Given the description of an element on the screen output the (x, y) to click on. 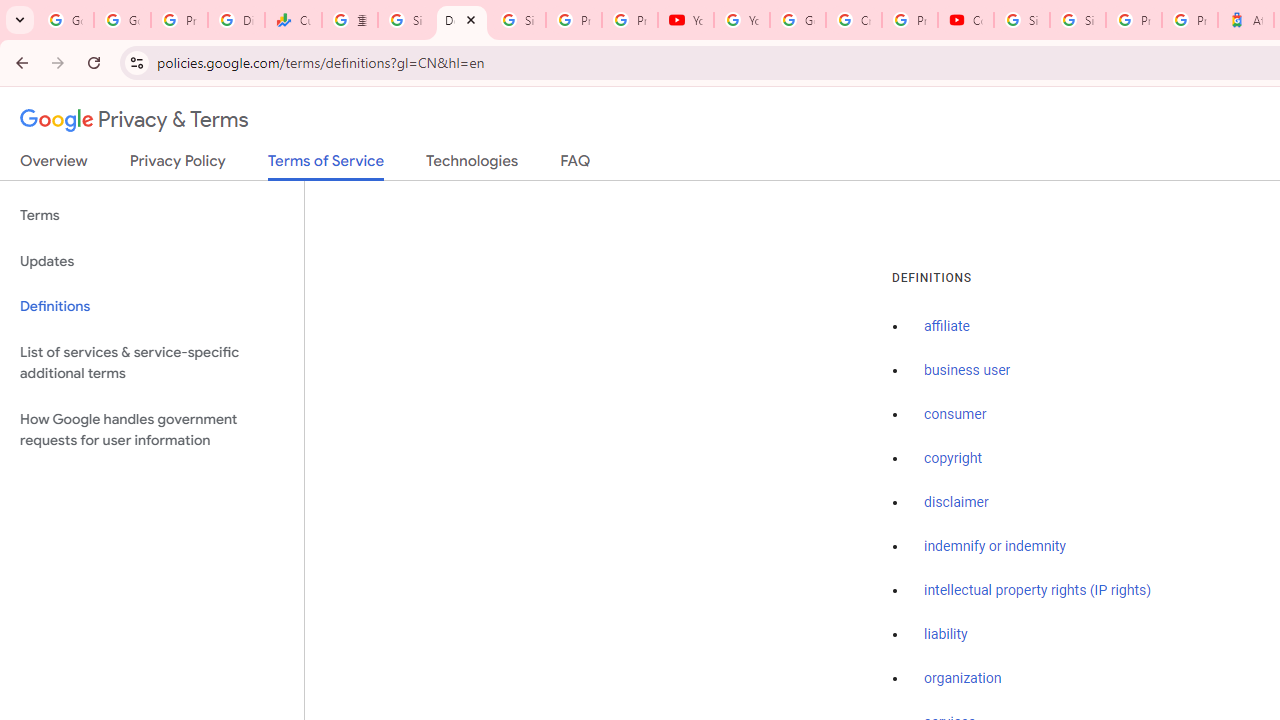
indemnify or indemnity (995, 546)
List of services & service-specific additional terms (152, 362)
Content Creator Programs & Opportunities - YouTube Creators (966, 20)
consumer (955, 415)
How Google handles government requests for user information (152, 429)
business user (967, 371)
Sign in - Google Accounts (1021, 20)
